Given the description of an element on the screen output the (x, y) to click on. 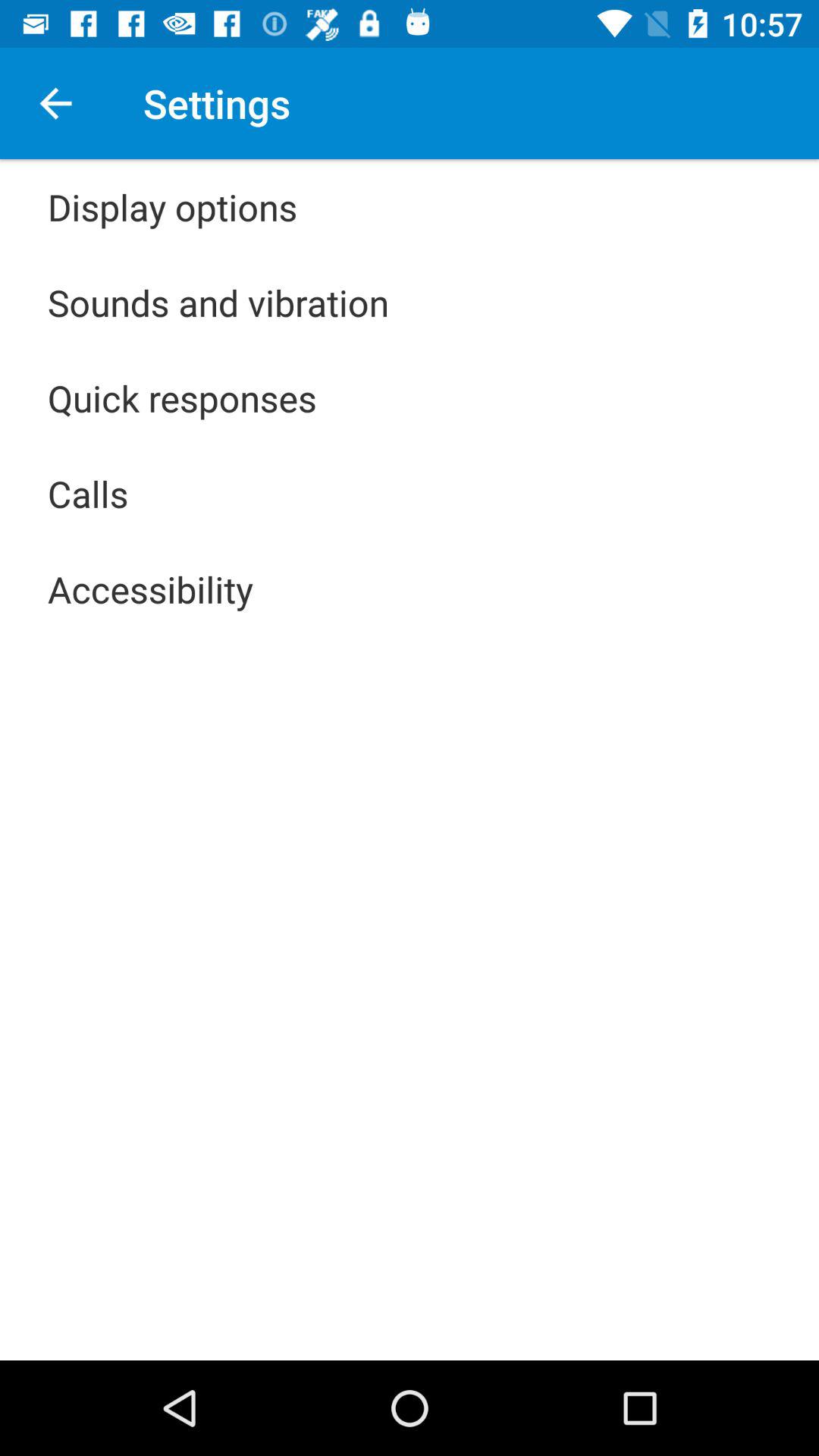
flip to the calls icon (87, 493)
